Given the description of an element on the screen output the (x, y) to click on. 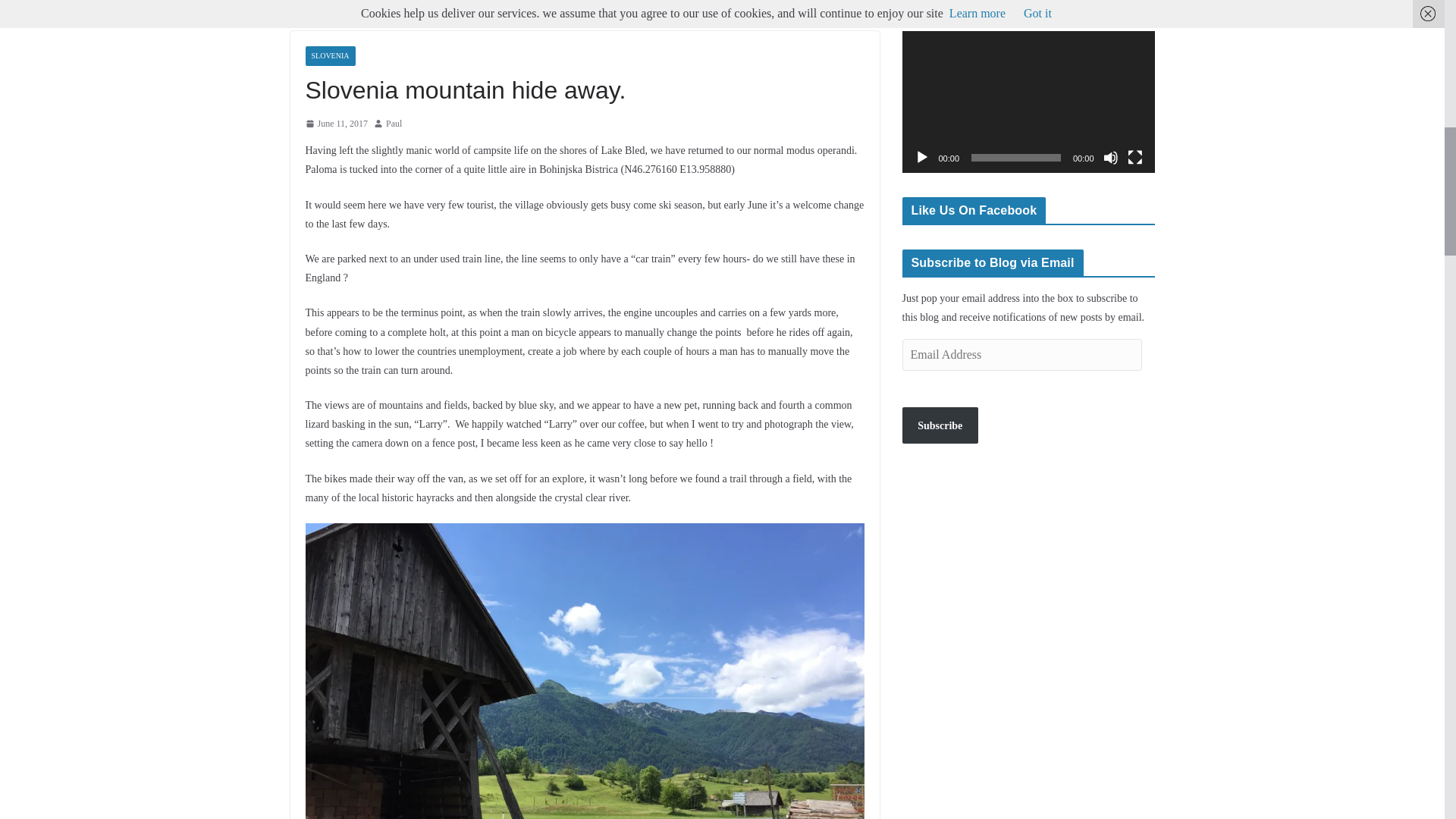
June 11, 2017 (336, 124)
Paul (393, 124)
Paul (393, 124)
Mute (1110, 157)
5:34 pm (336, 124)
Play (922, 157)
Fullscreen (1133, 157)
SLOVENIA (329, 55)
Subscribe (940, 425)
